Given the description of an element on the screen output the (x, y) to click on. 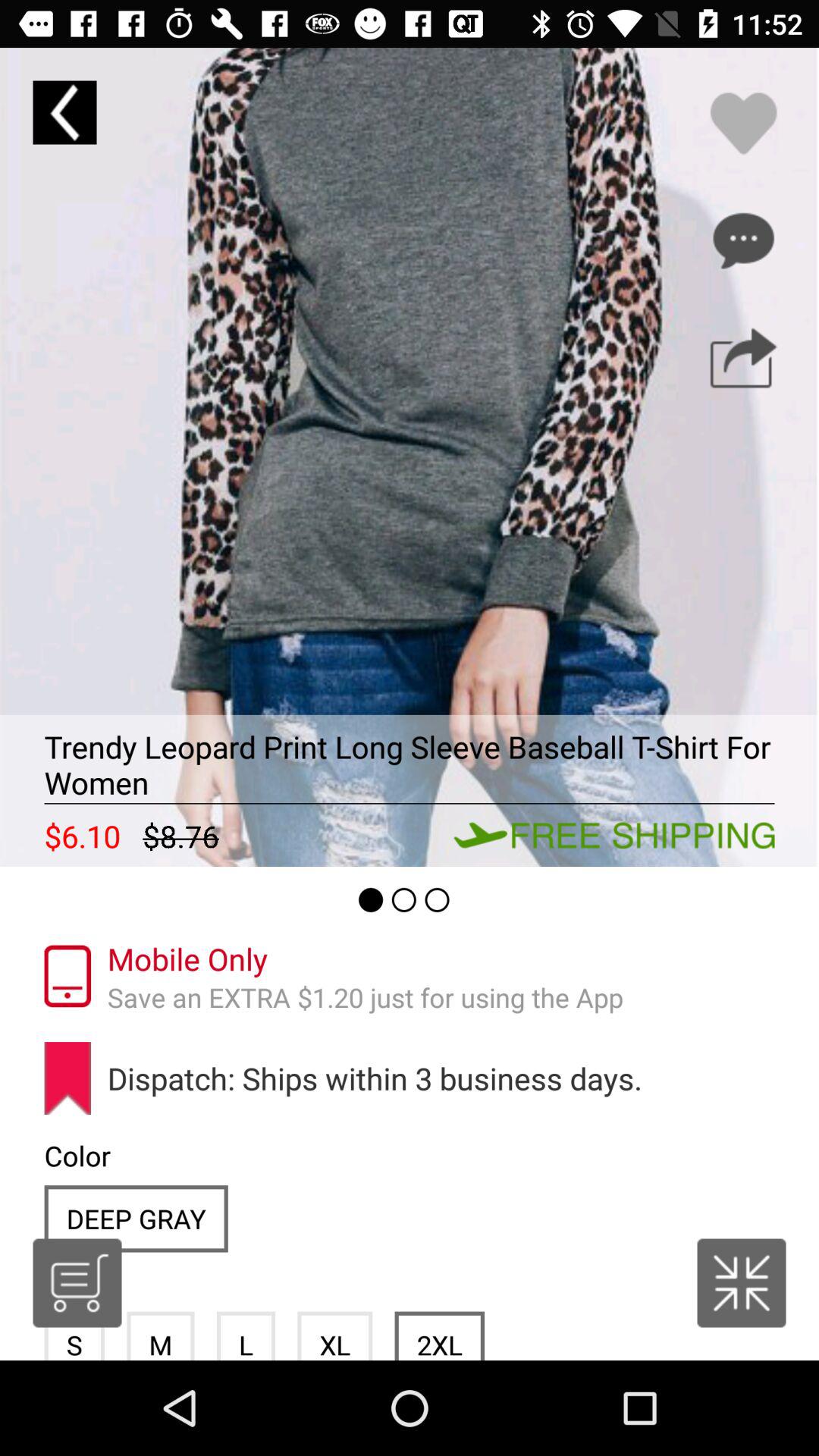
other options (743, 240)
